Given the description of an element on the screen output the (x, y) to click on. 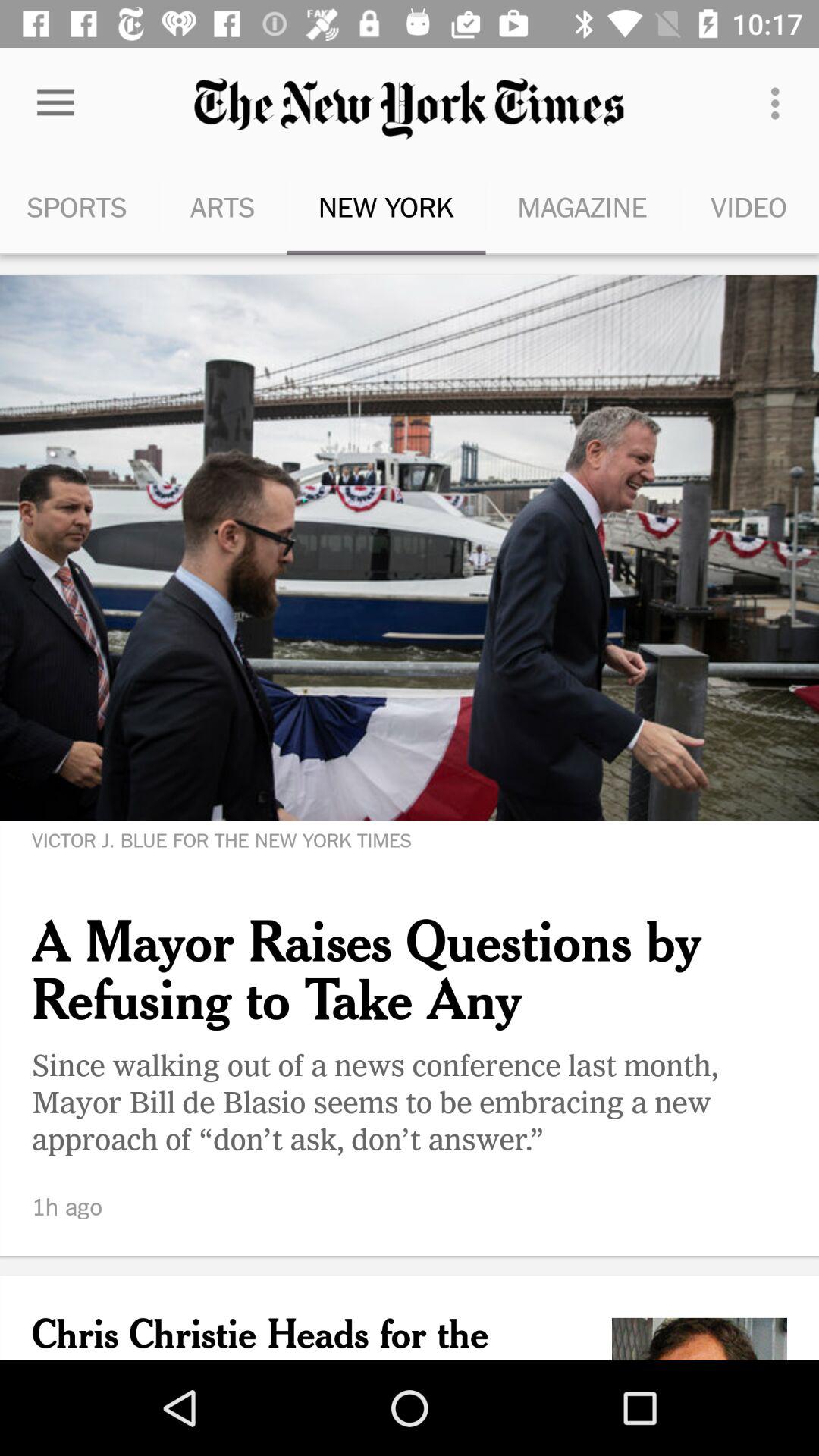
choose item above the sports (55, 103)
